Given the description of an element on the screen output the (x, y) to click on. 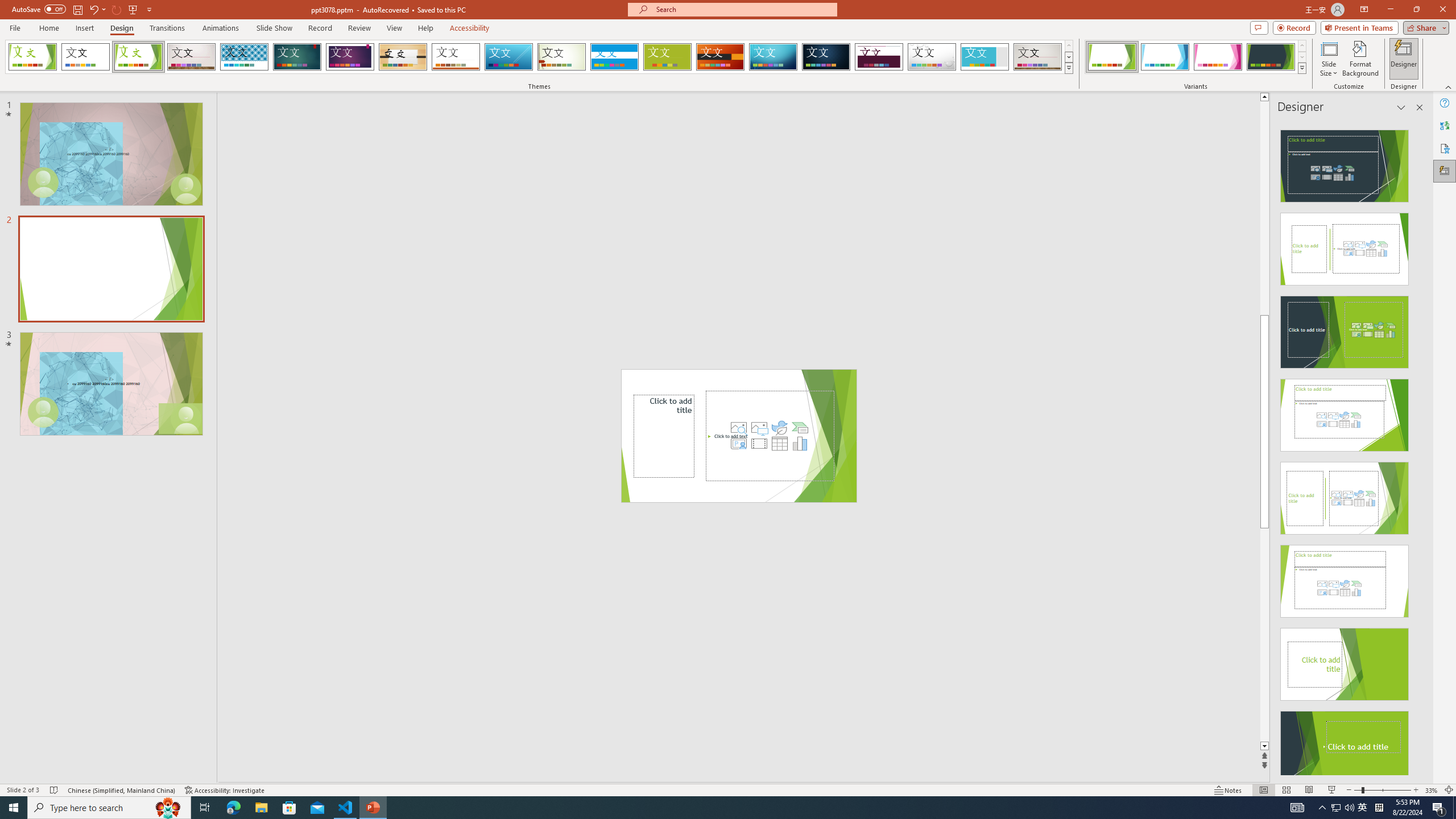
Ion Boardroom (350, 56)
Variants (1301, 67)
Facet Variant 4 (1270, 56)
Facet Variant 3 (1217, 56)
AutomationID: SlideThemesGallery (539, 56)
